Given the description of an element on the screen output the (x, y) to click on. 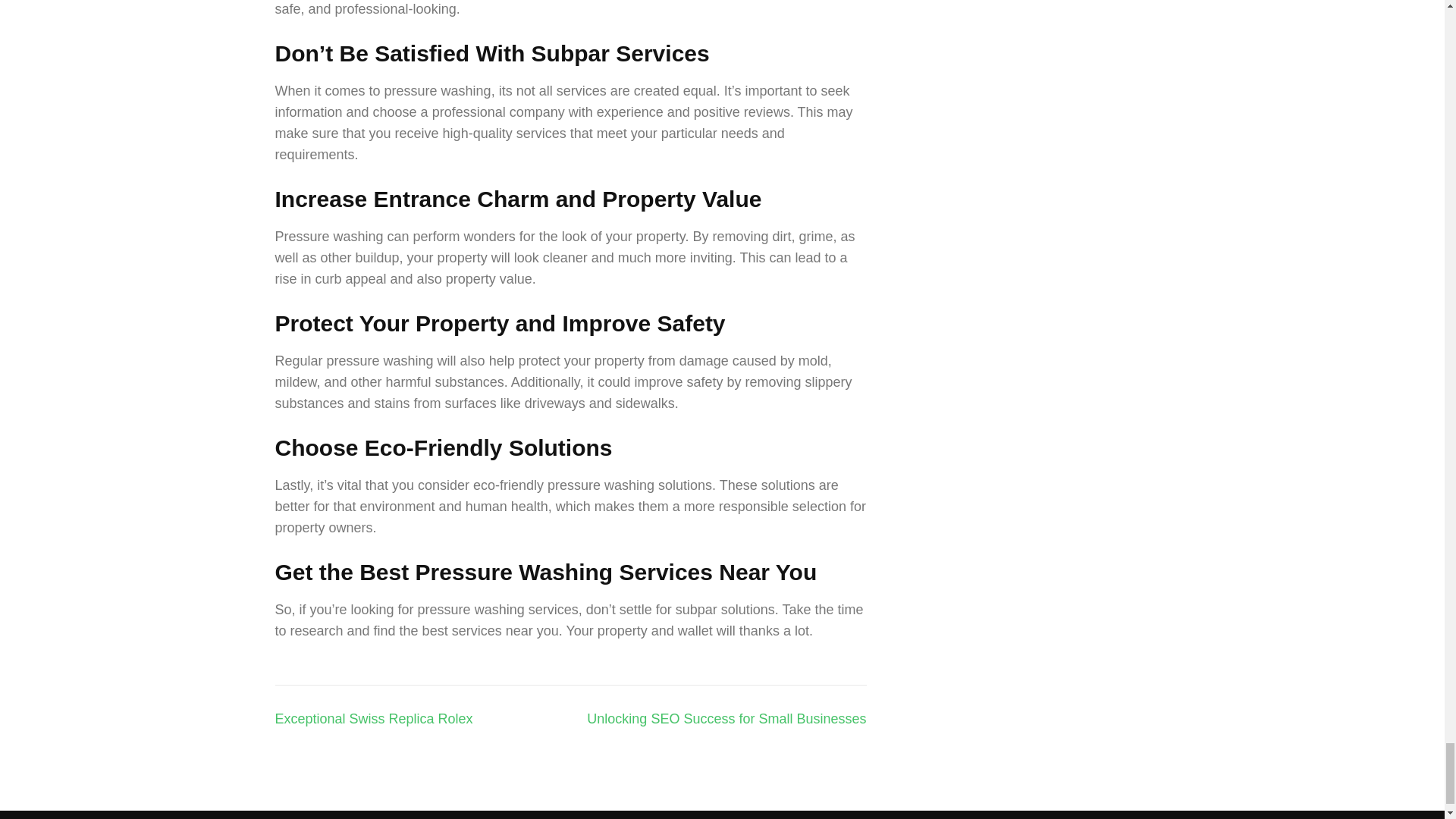
Exceptional Swiss Replica Rolex (373, 718)
Unlocking SEO Success for Small Businesses (726, 718)
